Given the description of an element on the screen output the (x, y) to click on. 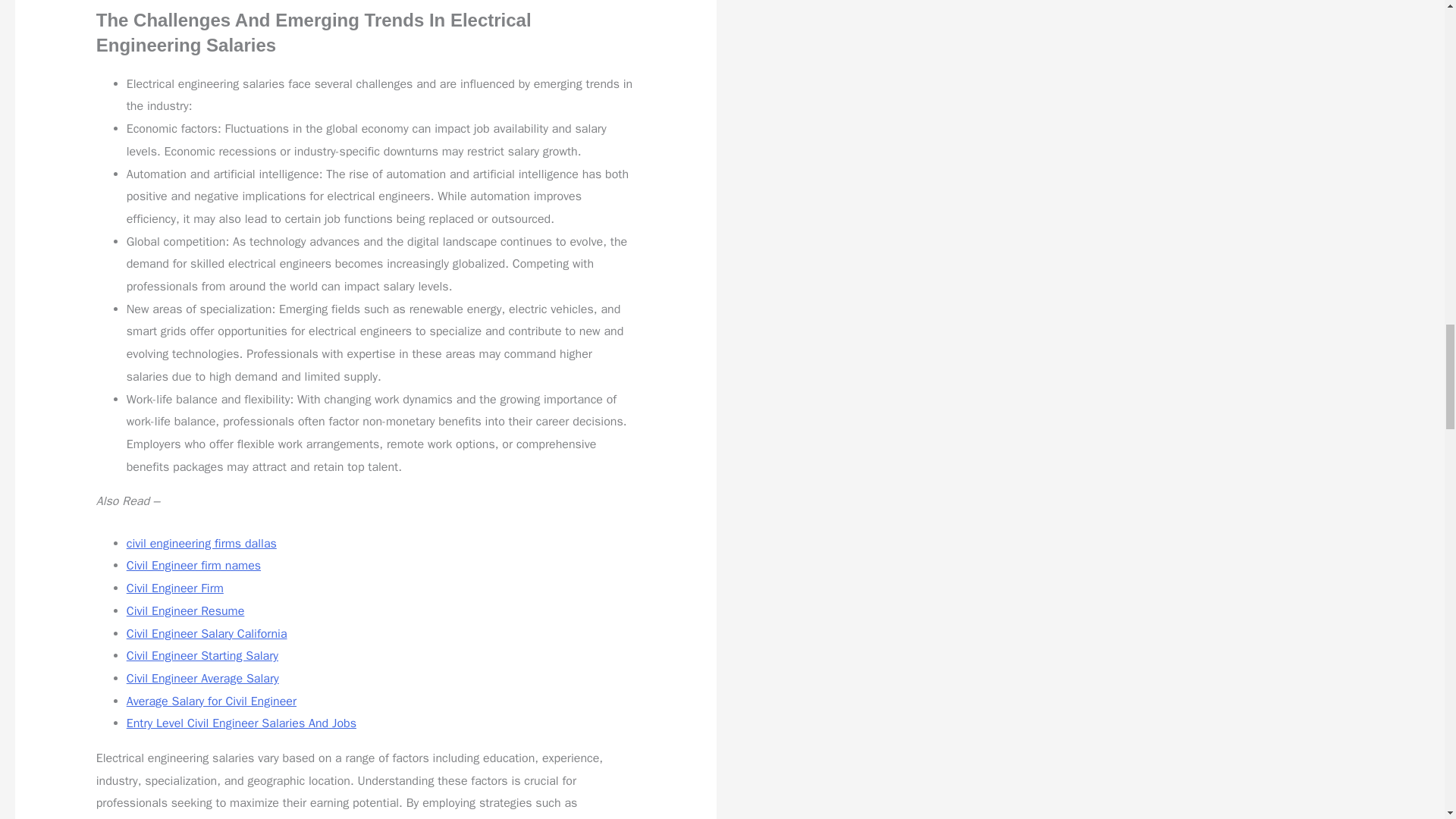
Civil Engineer firm names (193, 565)
Civil Engineer Resume (185, 611)
Average Salary for Civil Engineer (211, 701)
Civil Engineer Average Salary (202, 678)
Civil Engineer Salary California (206, 633)
civil engineering firms dallas (201, 543)
Entry Level Civil Engineer Salaries And Jobs (241, 723)
Civil Engineer Starting Salary (202, 655)
Civil Engineer Firm (175, 588)
